Given the description of an element on the screen output the (x, y) to click on. 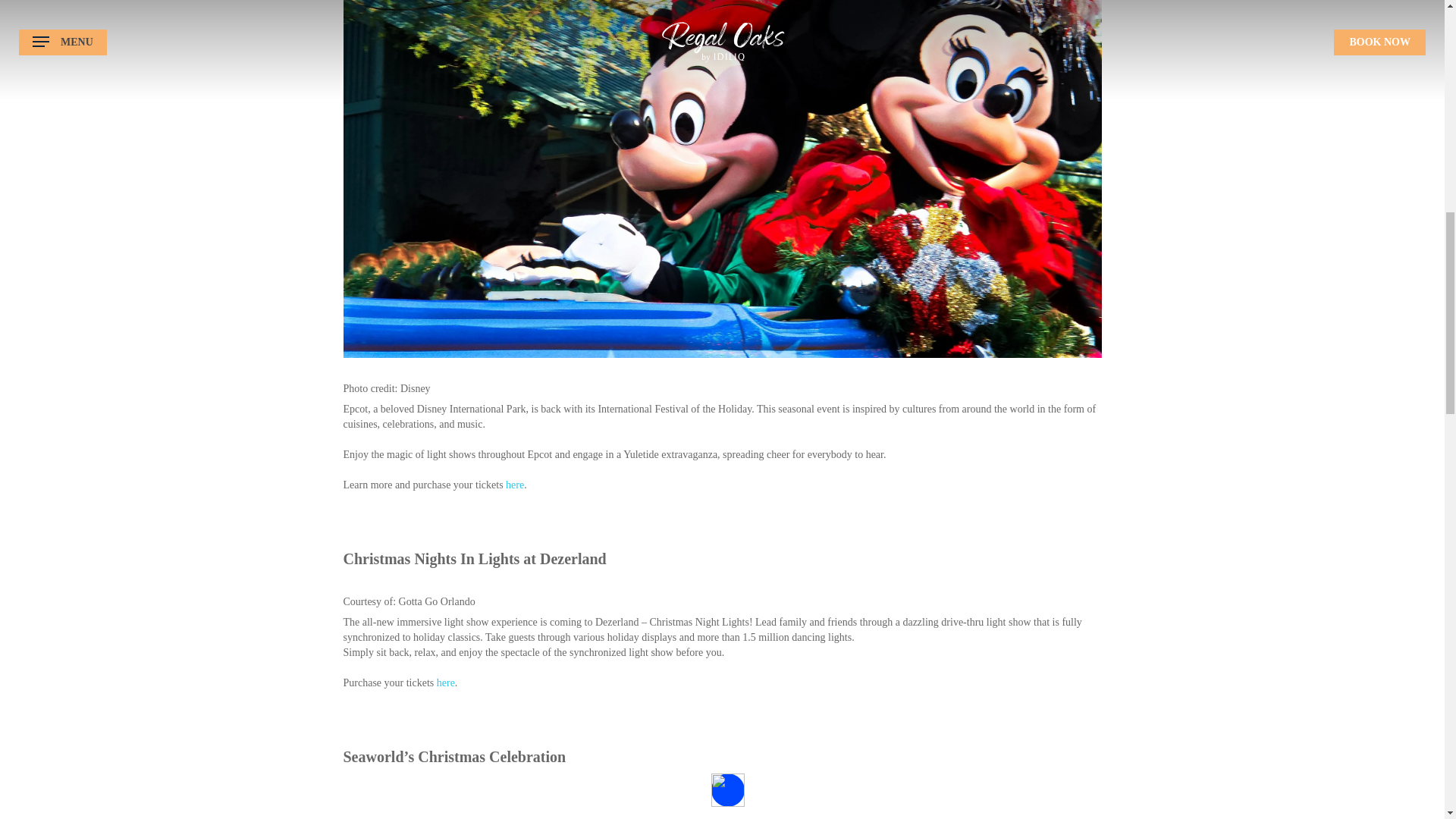
here (514, 484)
here (445, 682)
